Given the description of an element on the screen output the (x, y) to click on. 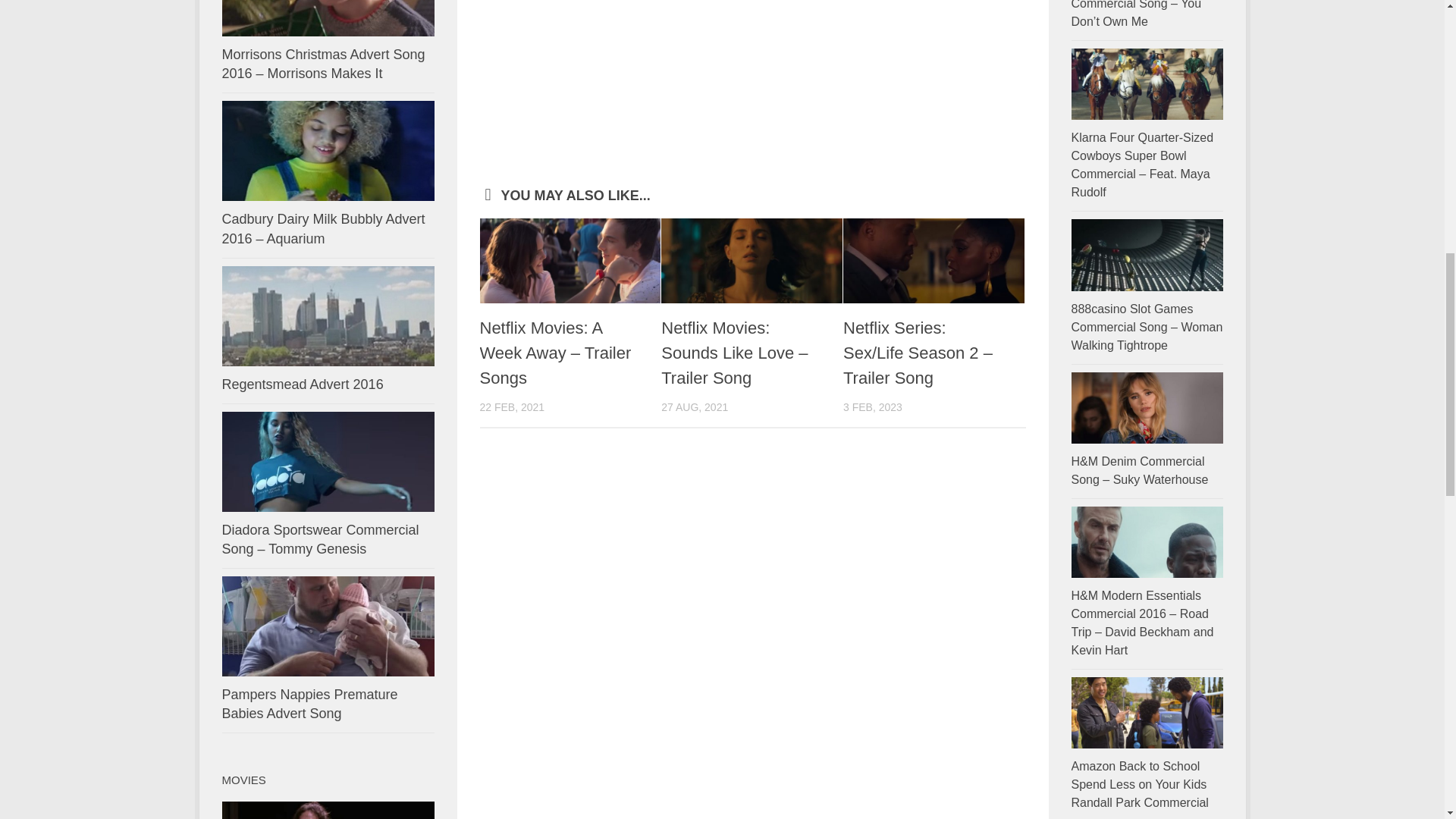
Pampers Nappies Premature Babies Advert Song (309, 704)
Advertisement (752, 93)
Regentsmead Advert 2016 (301, 384)
Regentsmead Advert 2016 (301, 384)
Regentsmead Advert 2016 (327, 316)
